Given the description of an element on the screen output the (x, y) to click on. 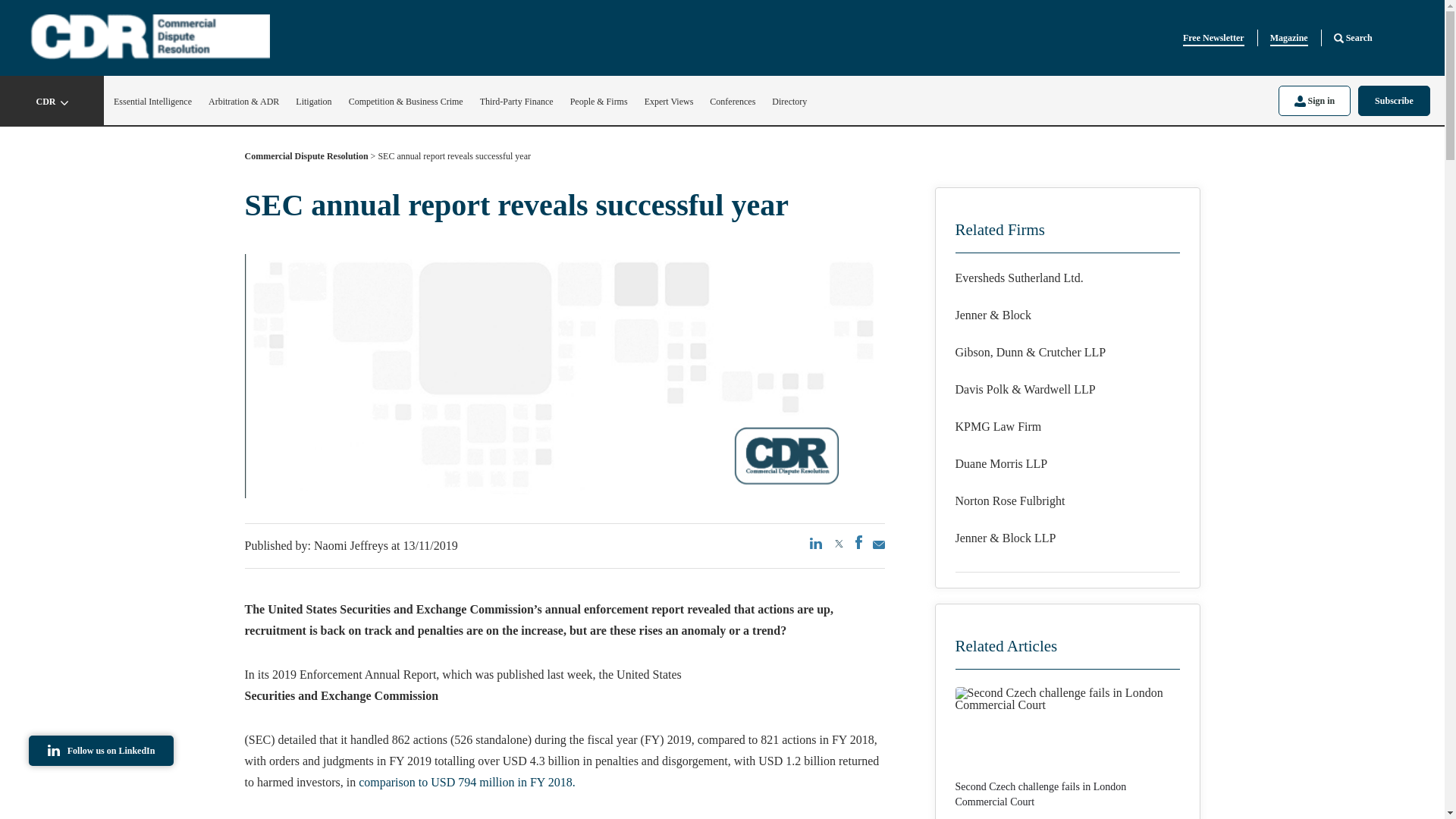
Expert Views (669, 101)
Subscribe (1393, 100)
Search (1353, 37)
Commercial Dispute Resolution (306, 159)
Conferences (732, 101)
Eversheds Sutherland Ltd. (1067, 277)
Sign in (1314, 100)
KPMG Law Firm (1067, 426)
Third-Party Finance (516, 101)
Free Newsletter (1213, 37)
